Given the description of an element on the screen output the (x, y) to click on. 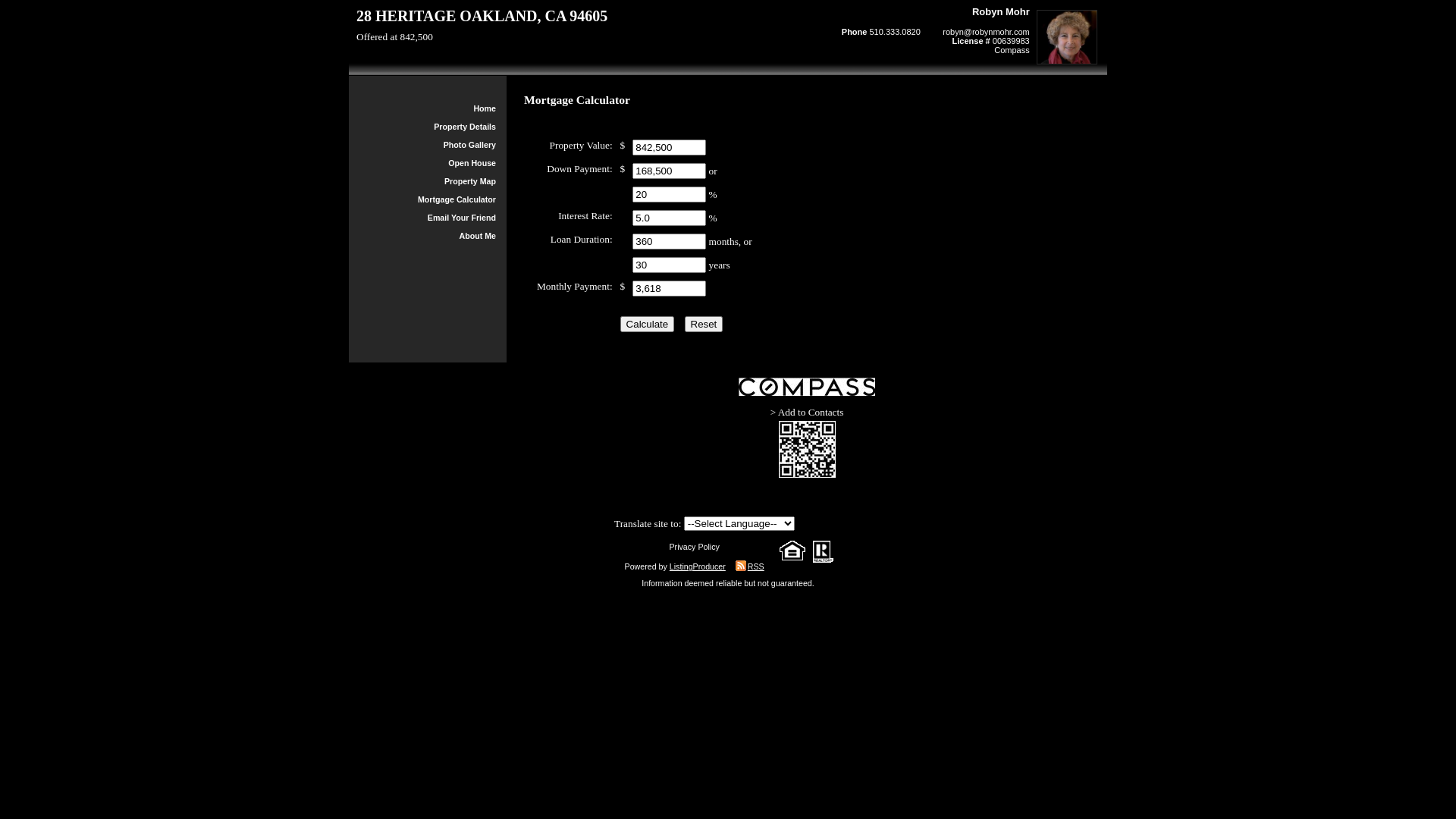
Photo Gallery Element type: text (469, 144)
Home Element type: text (484, 107)
ListingProducer Element type: text (697, 566)
RSS Element type: text (746, 566)
Email Your Friend Element type: text (461, 217)
About Me Element type: text (476, 235)
Open House Element type: text (471, 162)
Compass Element type: text (1011, 49)
Reset Element type: text (703, 324)
robyn@robynmohr.com Element type: text (985, 31)
Property Map Element type: text (469, 180)
Property Details Element type: text (464, 126)
Mortgage Calculator Element type: text (456, 198)
Privacy Policy Element type: text (693, 546)
Calculate Element type: text (647, 324)
